Given the description of an element on the screen output the (x, y) to click on. 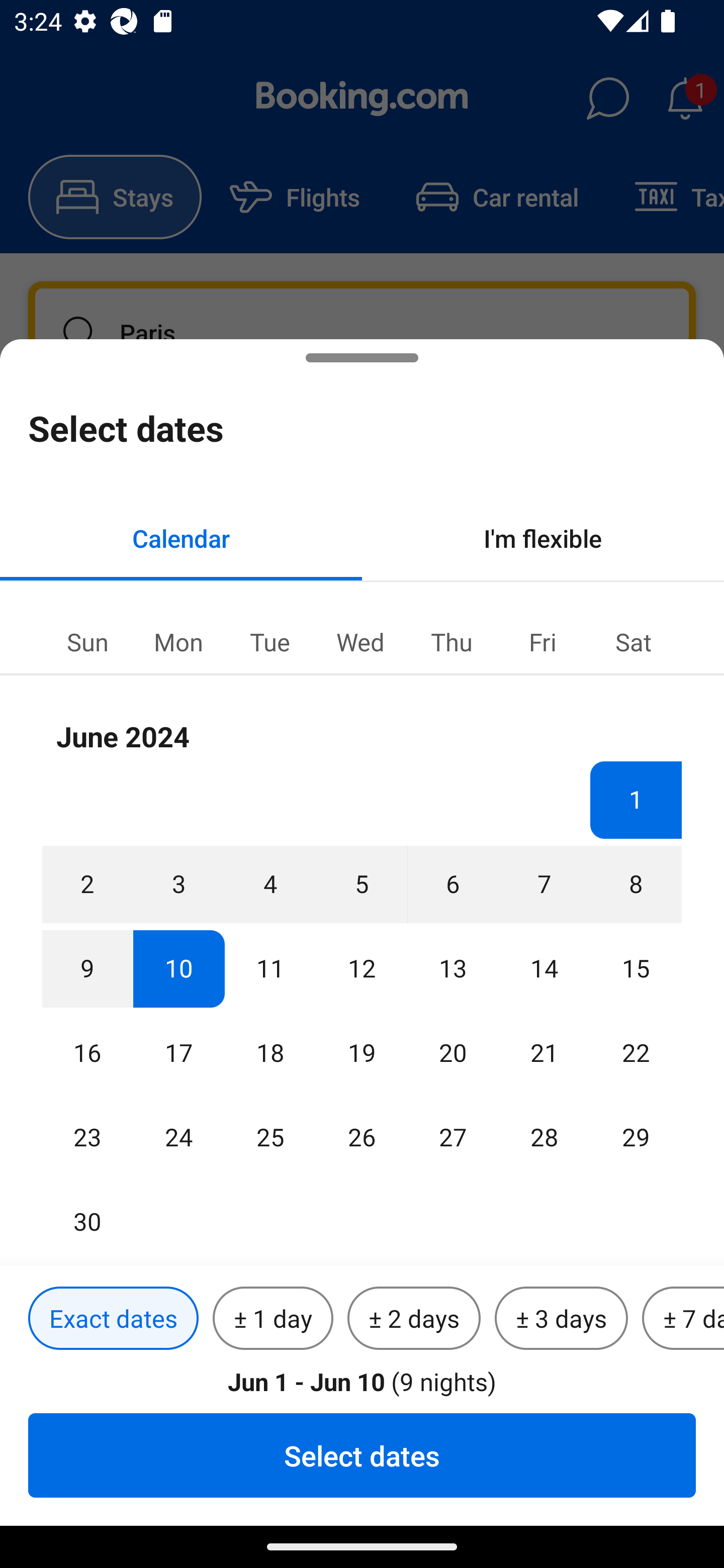
I'm flexible (543, 537)
Exact dates (113, 1318)
± 1 day (272, 1318)
± 2 days (413, 1318)
± 3 days (560, 1318)
± 7 days (683, 1318)
Select dates (361, 1454)
